Given the description of an element on the screen output the (x, y) to click on. 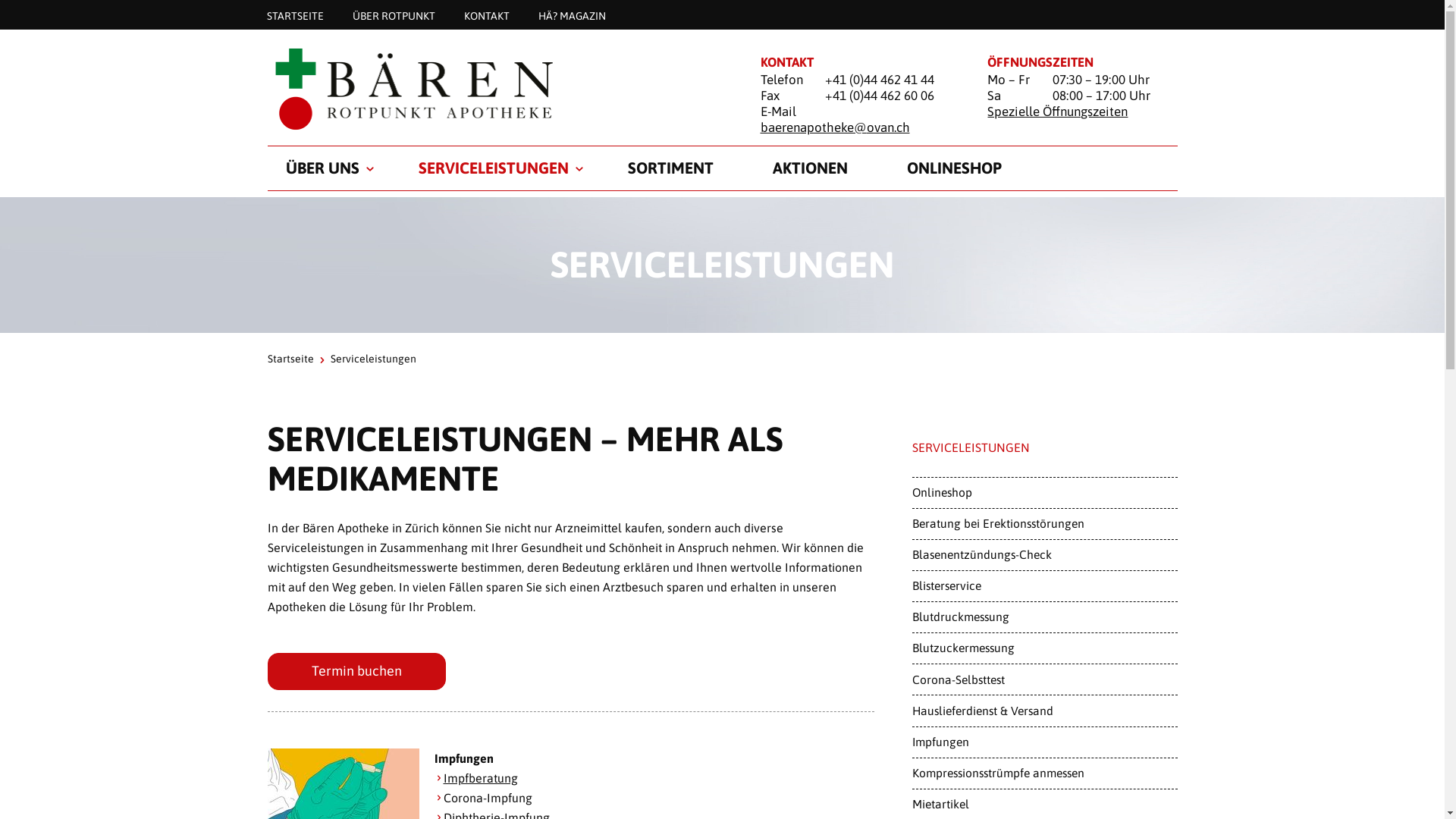
Blutzuckermessung Element type: text (1043, 648)
Impfungen Element type: text (1043, 741)
AKTIONEN Element type: text (809, 168)
Onlineshop Element type: text (1043, 492)
Startseite Element type: text (289, 358)
STARTSEITE Element type: text (294, 15)
SORTIMENT Element type: text (670, 168)
KONTAKT Element type: text (486, 15)
Termin buchen Element type: text (356, 671)
ONLINESHOP Element type: text (953, 168)
SERVICELEISTUNGEN Element type: text (493, 168)
Blutdruckmessung Element type: text (1043, 617)
Corona-Selbsttest Element type: text (1043, 679)
Blisterservice Element type: text (1043, 586)
Hauslieferdienst & Versand Element type: text (1043, 710)
baerenapotheke@ovan.ch Element type: text (834, 126)
Impfberatung Element type: text (479, 777)
Startseite Element type: hover (493, 88)
